Given the description of an element on the screen output the (x, y) to click on. 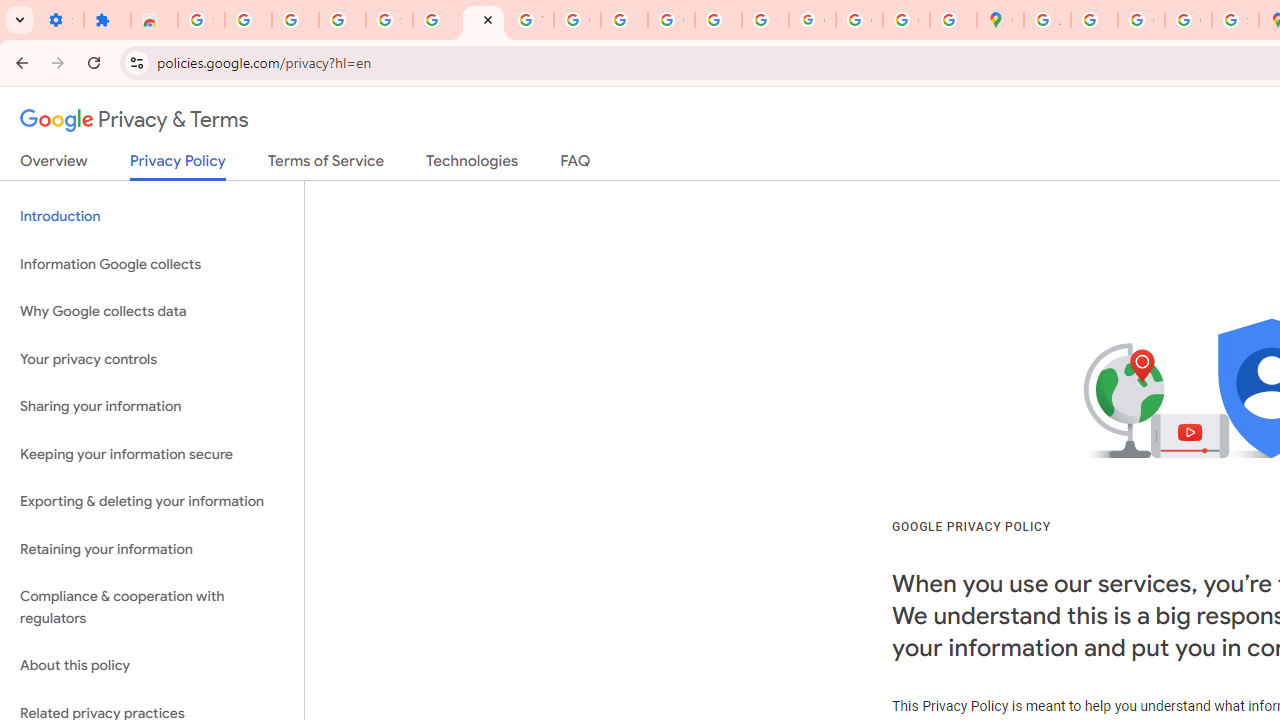
Delete photos & videos - Computer - Google Photos Help (248, 20)
